Given the description of an element on the screen output the (x, y) to click on. 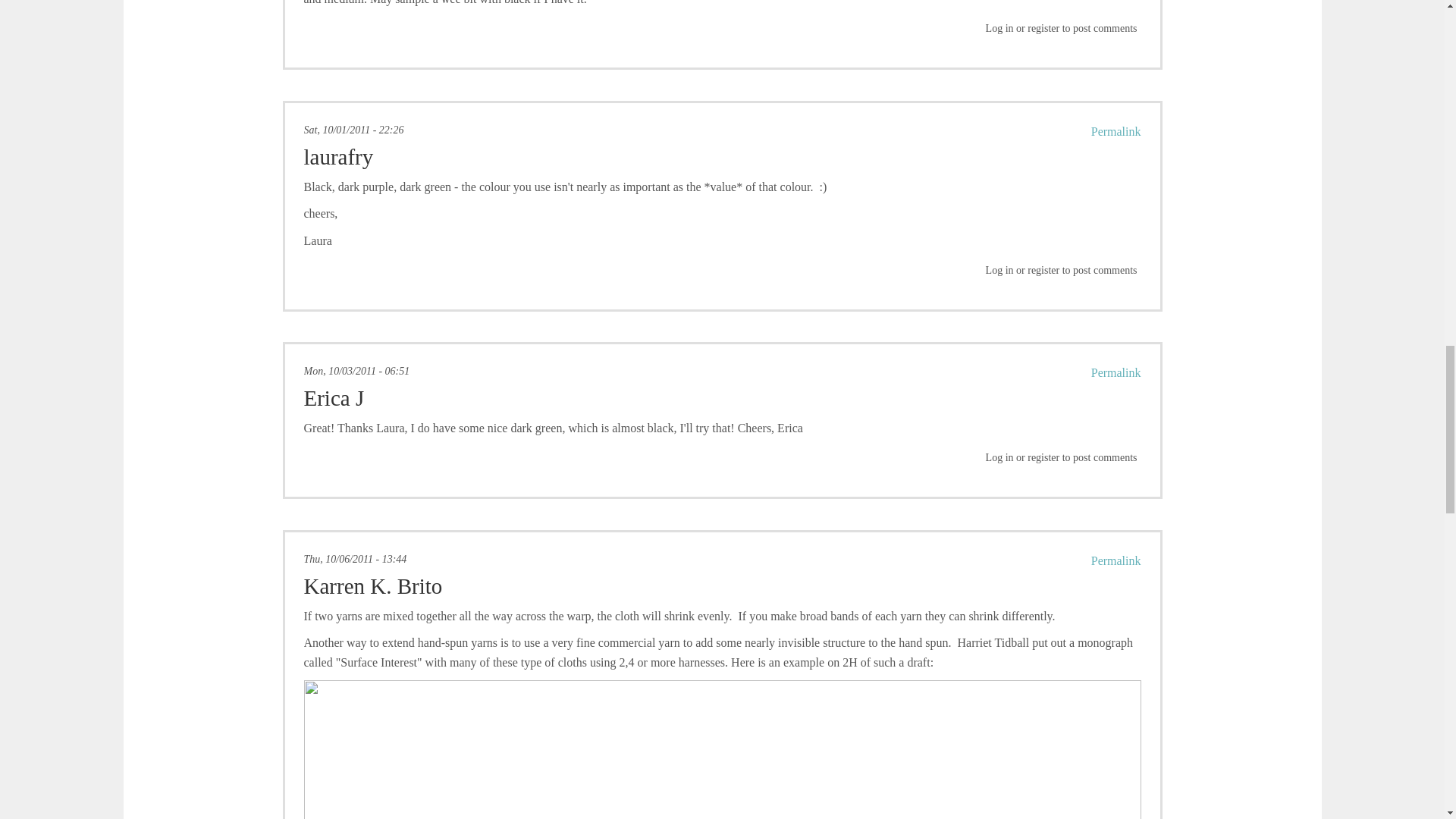
Permalink (1115, 372)
register (1043, 270)
register (1043, 28)
Permalink (1115, 560)
Log in (999, 28)
register (1043, 457)
Permalink (1115, 131)
Log in (999, 270)
Log in (999, 457)
